Given the description of an element on the screen output the (x, y) to click on. 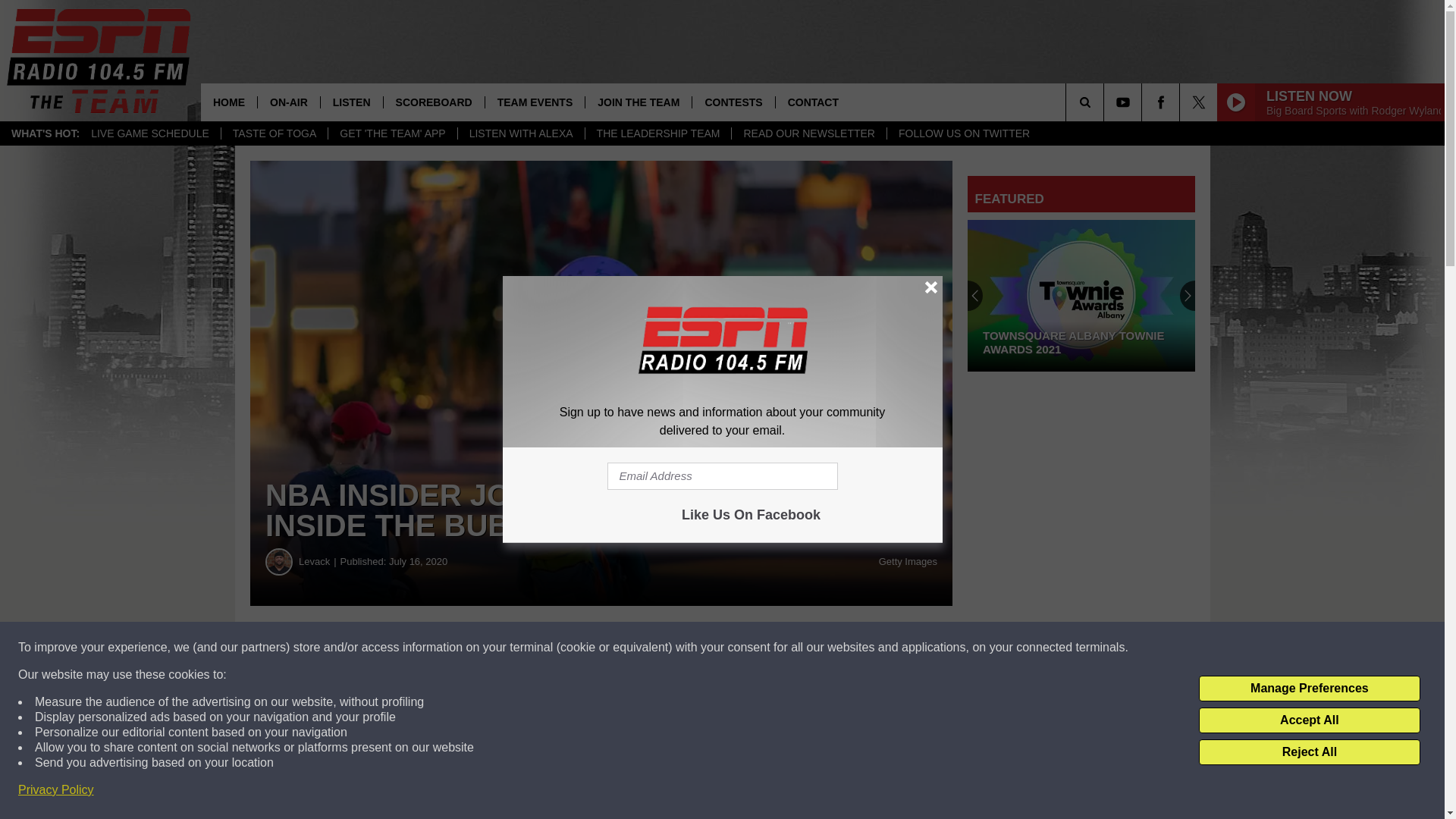
TASTE OF TOGA (274, 133)
Share on Twitter (741, 647)
Privacy Policy (55, 789)
Accept All (1309, 720)
SCOREBOARD (433, 102)
TEAM EVENTS (534, 102)
THE LEADERSHIP TEAM (658, 133)
ON-AIR (288, 102)
LISTEN (351, 102)
Manage Preferences (1309, 688)
CONTESTS (732, 102)
SEARCH (1106, 102)
SEARCH (1106, 102)
HOME (228, 102)
LIVE GAME SCHEDULE (150, 133)
